Given the description of an element on the screen output the (x, y) to click on. 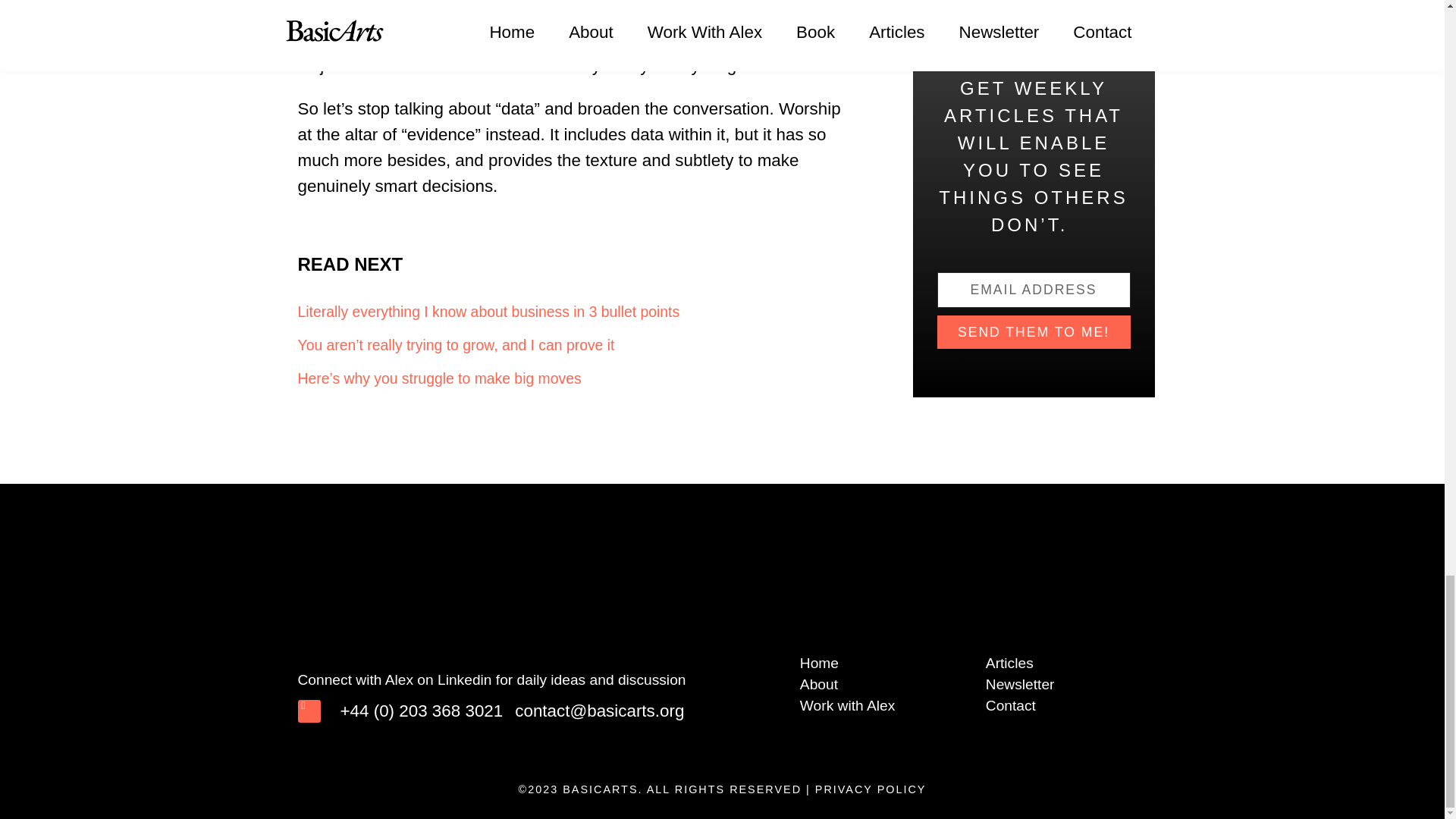
About (885, 684)
Home (885, 663)
SEND THEM TO ME! (1034, 331)
